Given the description of an element on the screen output the (x, y) to click on. 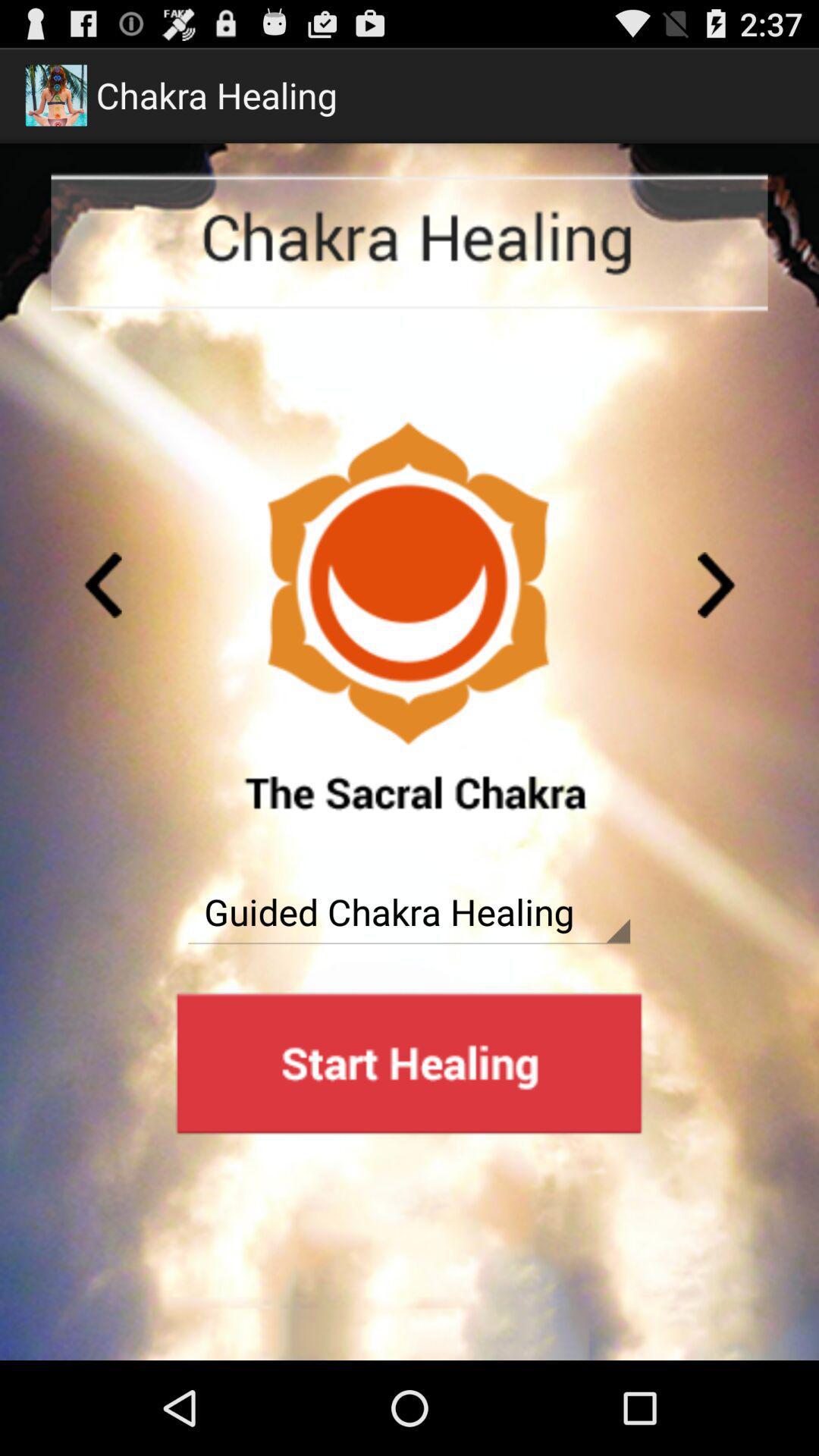
start option (409, 1063)
